Given the description of an element on the screen output the (x, y) to click on. 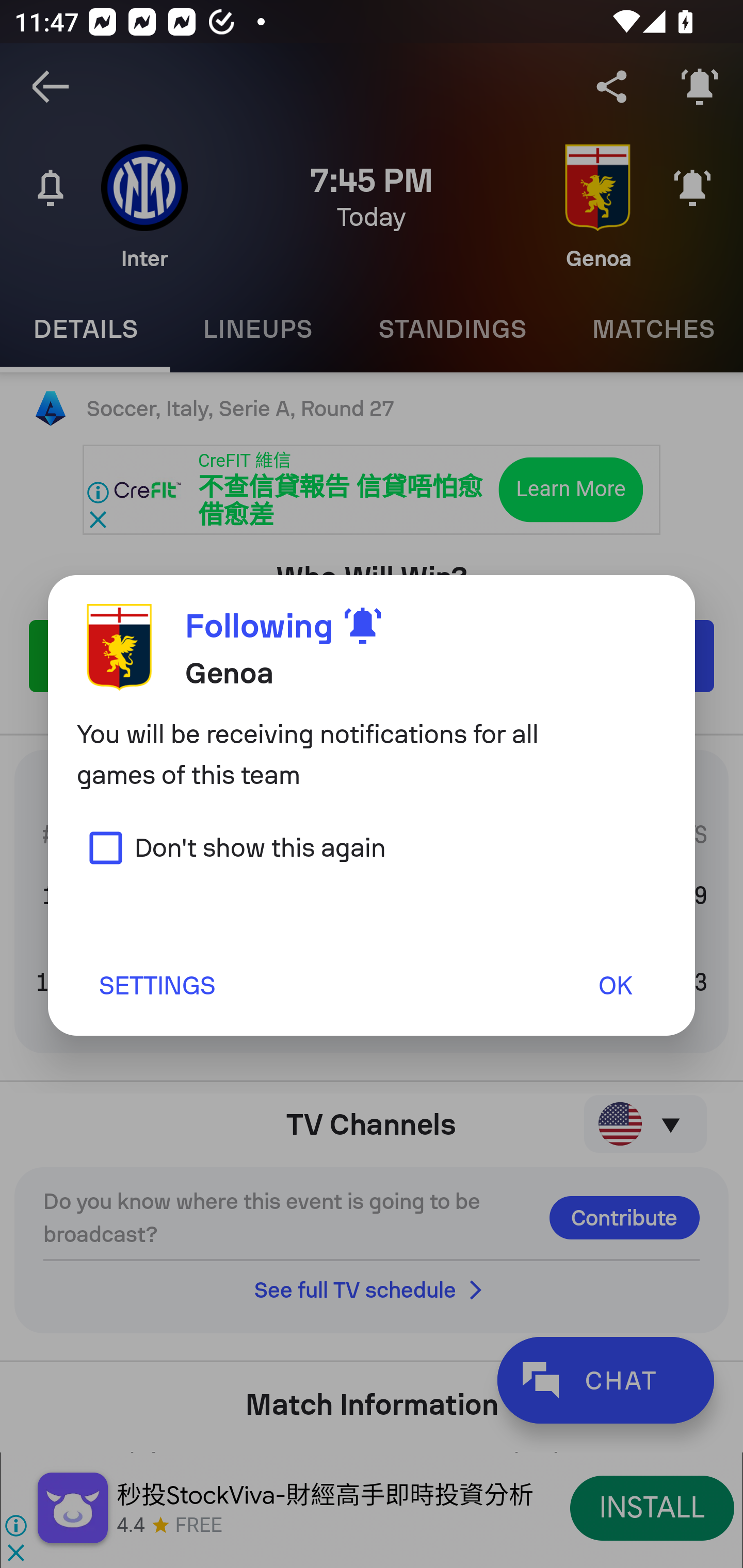
Don't show this again (231, 847)
SETTINGS (156, 985)
OK (615, 985)
